Given the description of an element on the screen output the (x, y) to click on. 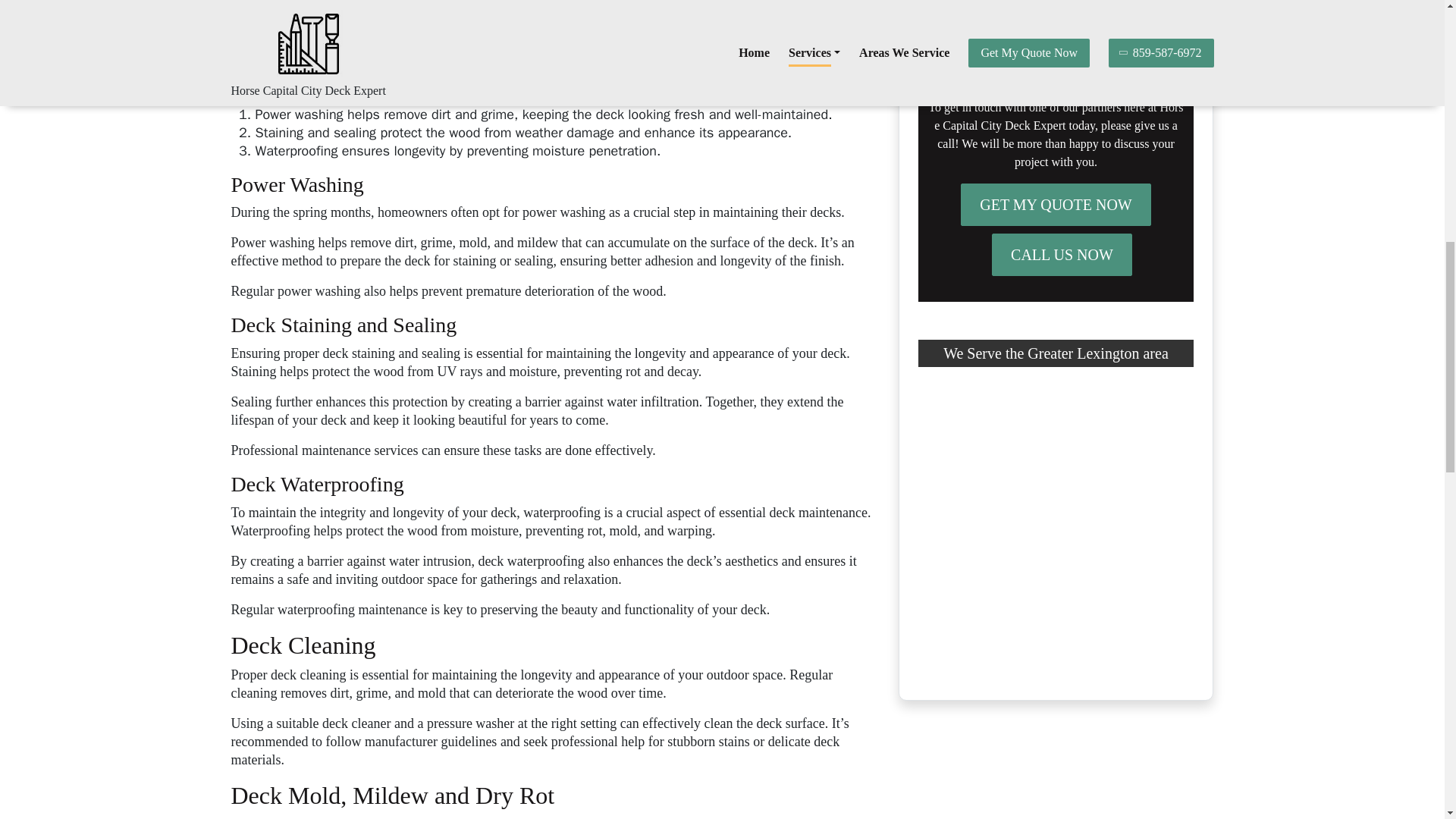
GET MY QUOTE NOW (1055, 204)
CALL US NOW (1061, 254)
